Given the description of an element on the screen output the (x, y) to click on. 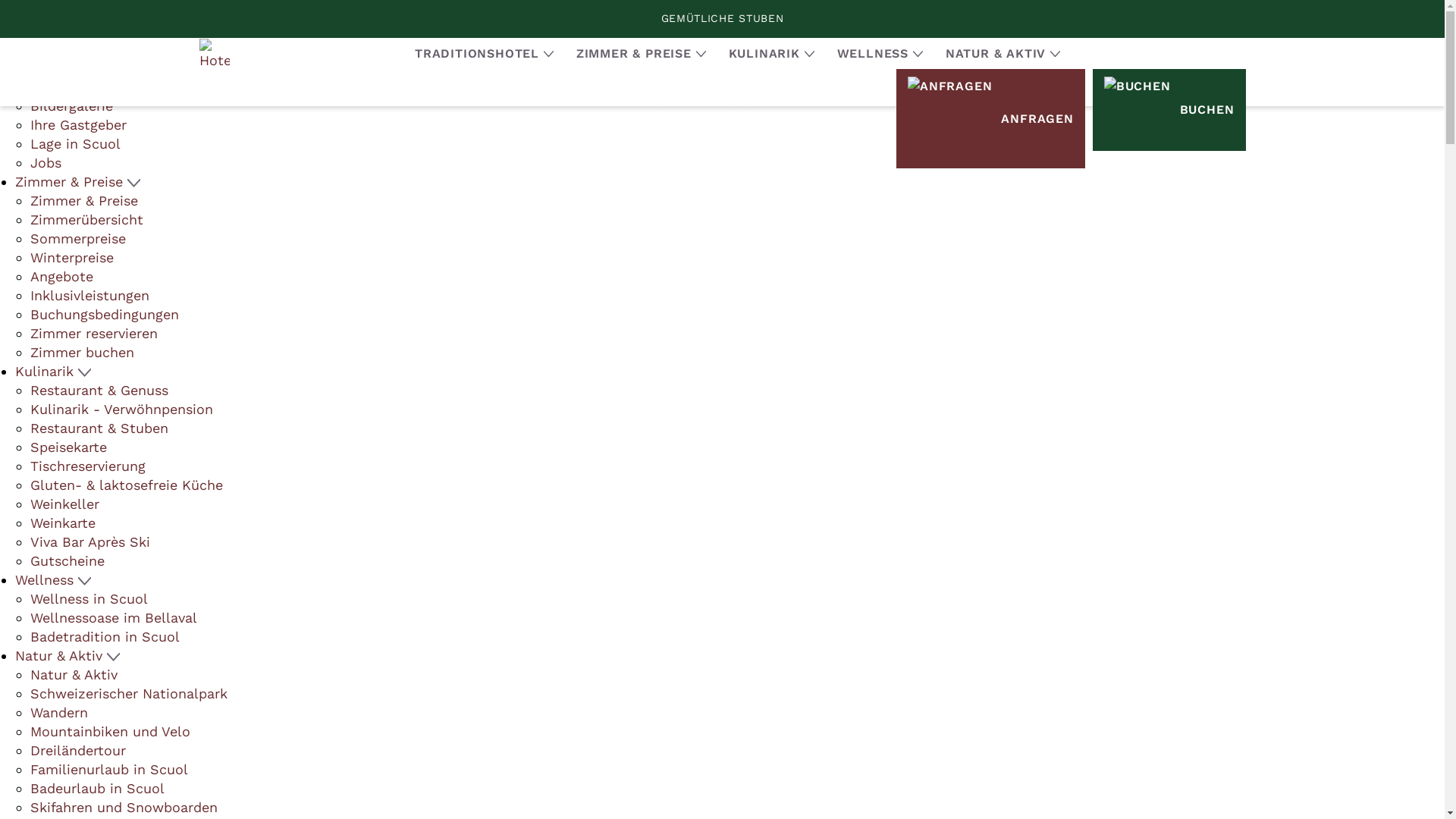
Lage in Scuol Element type: text (75, 143)
BUCHEN Element type: text (1168, 109)
Zimmer & Preise Element type: text (84, 200)
Jobs Element type: text (45, 162)
Badeurlaub in Scuol Element type: text (97, 788)
Inklusivleistungen Element type: text (89, 295)
Bildergalerie Element type: text (71, 105)
Hotel Bellaval Scuol Element type: hover (213, 52)
Natur & Aktiv Element type: text (73, 674)
+41 818641481 Element type: text (221, 48)
Ihre Gastgeber Element type: text (78, 124)
Winterpreise Element type: text (71, 257)
Restaurant & Genuss Element type: text (99, 390)
hotel@bellaval-scuol.ch Element type: text (95, 48)
Restaurant & Stuben Element type: text (99, 428)
Weinkeller Element type: text (64, 503)
Schweizerischer Nationalpark Element type: text (128, 693)
Hotel Bellaval Scuol Element type: hover (73, 10)
Speisekarte Element type: text (68, 447)
Zimmer buchen Element type: text (82, 352)
Sommerpreise Element type: text (77, 238)
Angebote Element type: text (61, 276)
Wellnessoase im Bellaval Element type: text (113, 617)
Wandern Element type: text (58, 712)
Mountainbiken und Velo Element type: text (110, 731)
Zimmer reservieren Element type: text (93, 333)
Skifahren und Snowboarden Element type: text (123, 807)
Familienurlaub in Scuol Element type: text (109, 769)
Buchungsbedingungen Element type: text (104, 314)
Weinkarte Element type: text (62, 522)
Hotel Bellaval Element type: text (76, 86)
Wellness in Scuol Element type: text (88, 598)
ANFRAGEN Element type: text (990, 118)
Tischreservierung Element type: text (87, 465)
Badetradition in Scuol Element type: text (104, 636)
Gutscheine Element type: text (67, 560)
